Given the description of an element on the screen output the (x, y) to click on. 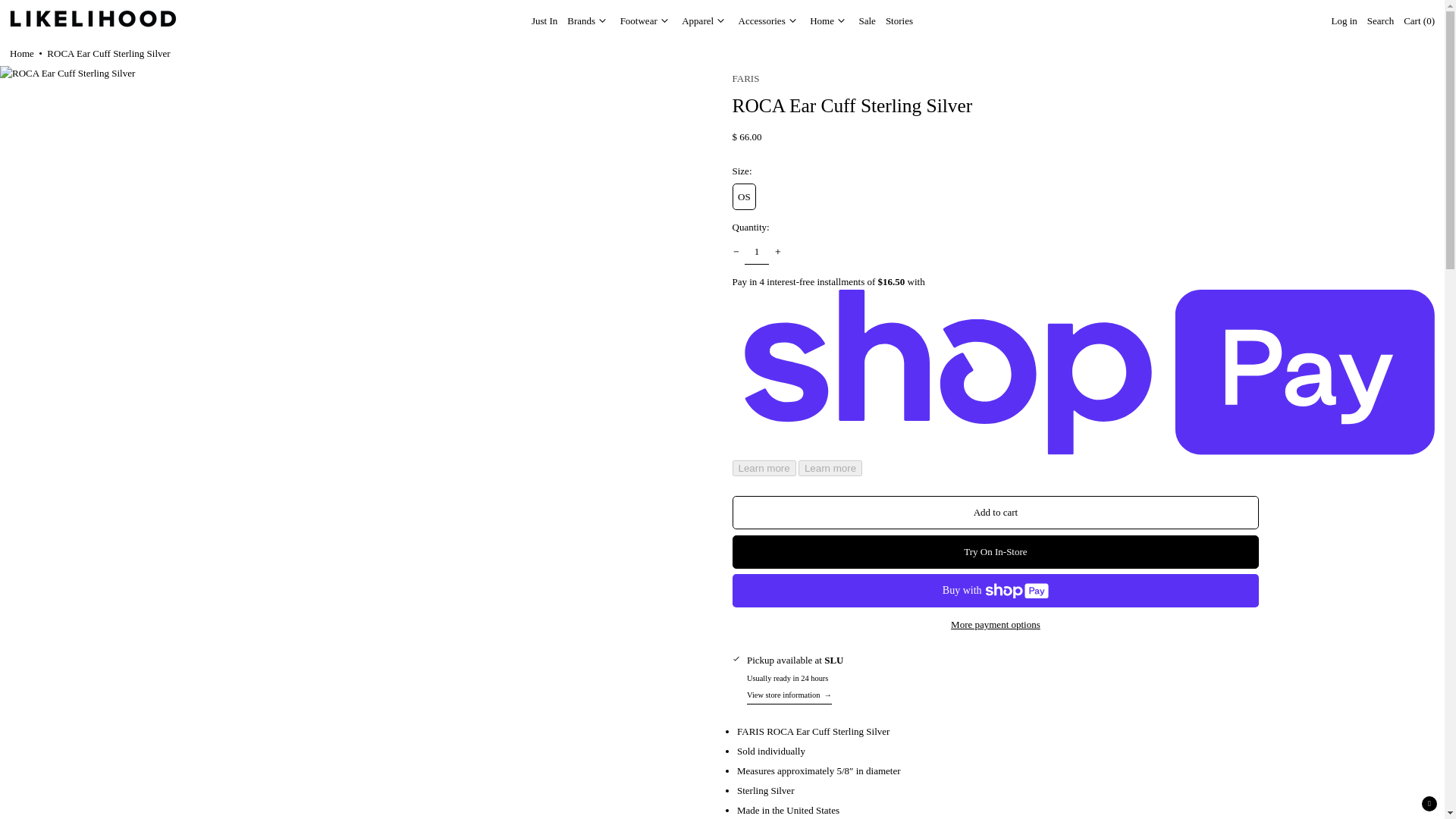
1 (757, 252)
Home (21, 53)
